Given the description of an element on the screen output the (x, y) to click on. 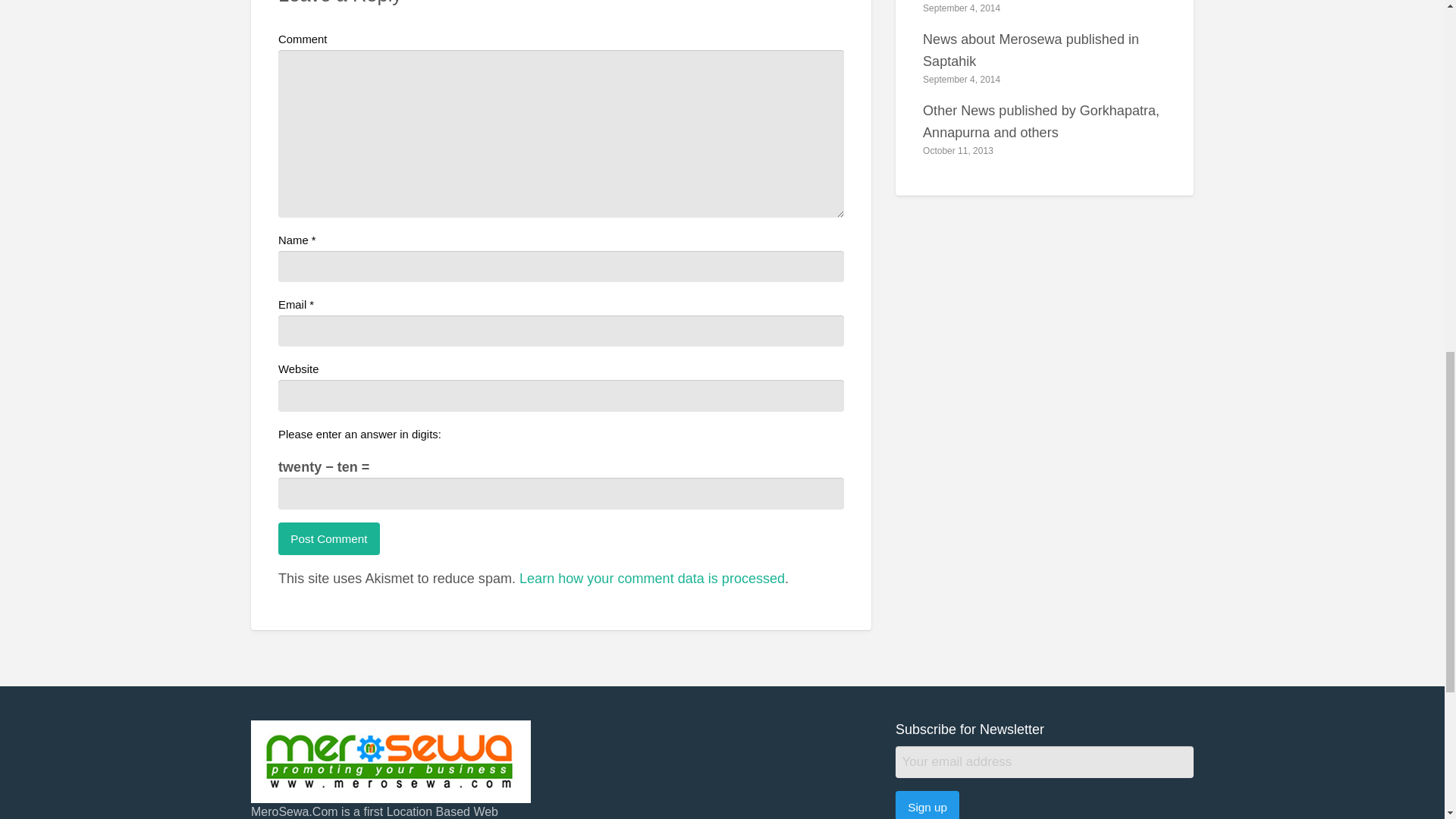
Post Comment (329, 538)
Sign up (927, 805)
